Given the description of an element on the screen output the (x, y) to click on. 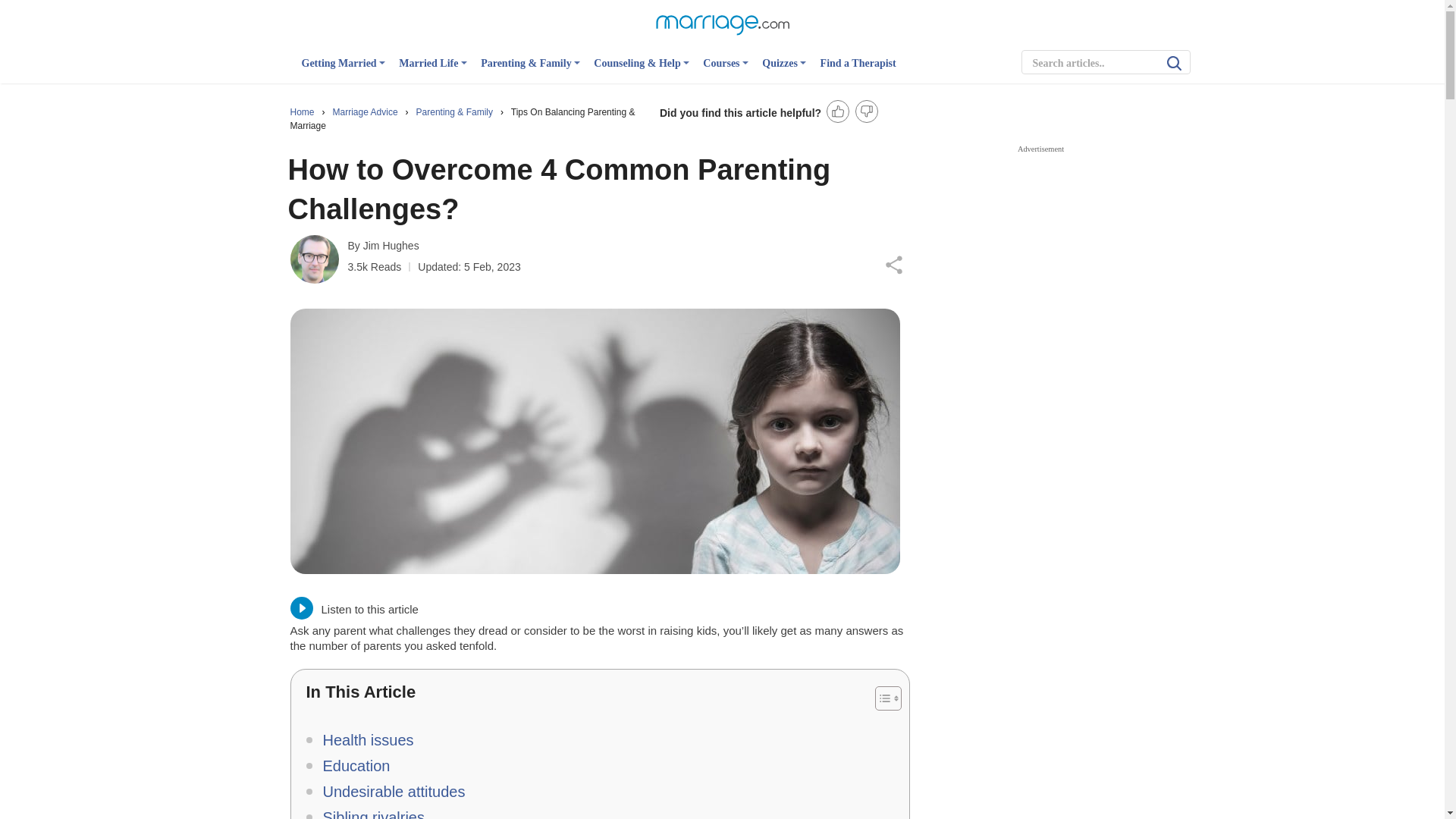
 Education (347, 765)
Play (301, 608)
Getting Married (343, 69)
Home (302, 112)
Find a Therapist (858, 69)
Marriage Advice (366, 112)
Home (302, 112)
 Undesirable attitudes (385, 791)
 Sibling rivalries (365, 811)
